Given the description of an element on the screen output the (x, y) to click on. 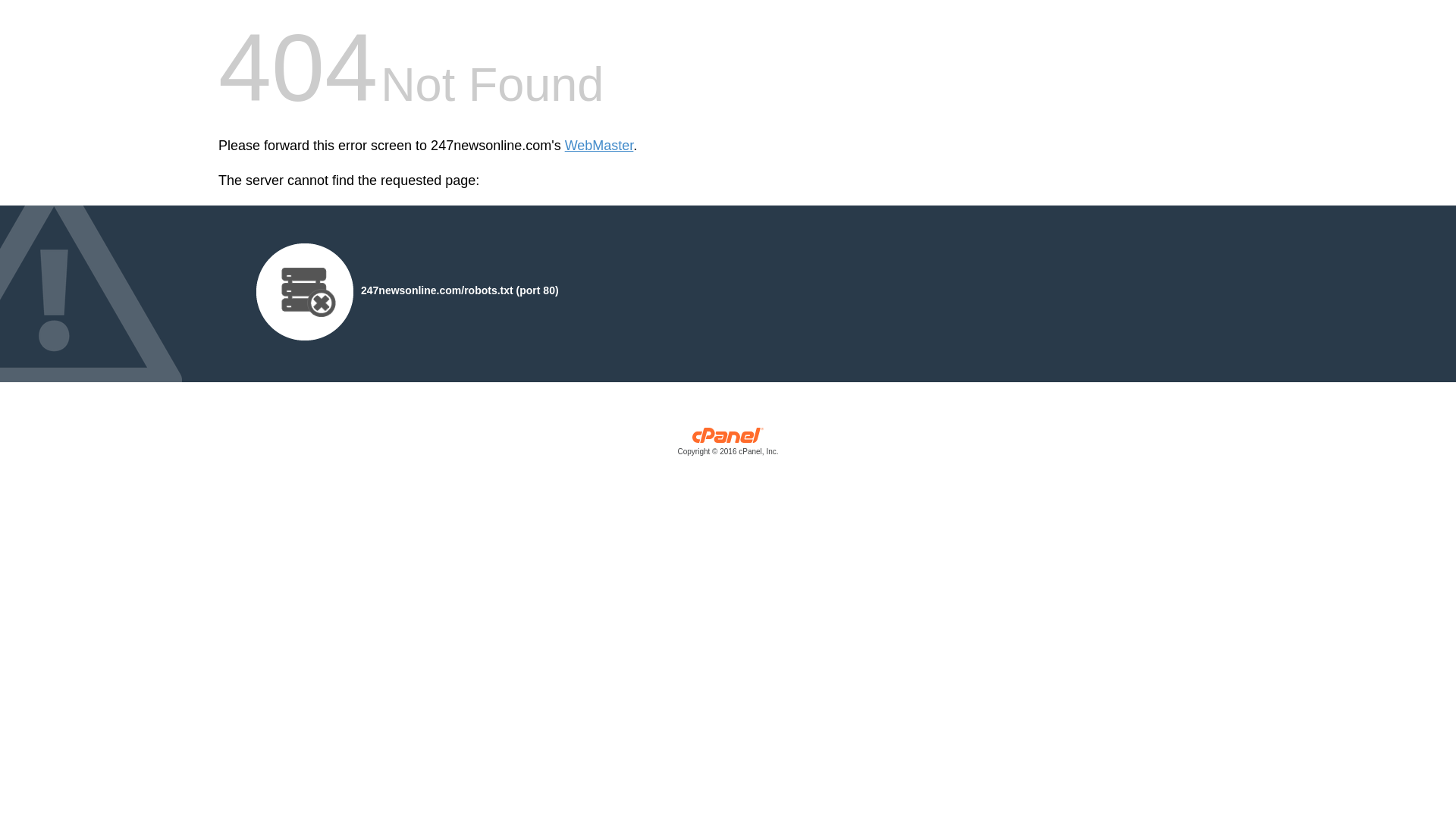
WebMaster Element type: text (598, 145)
